Given the description of an element on the screen output the (x, y) to click on. 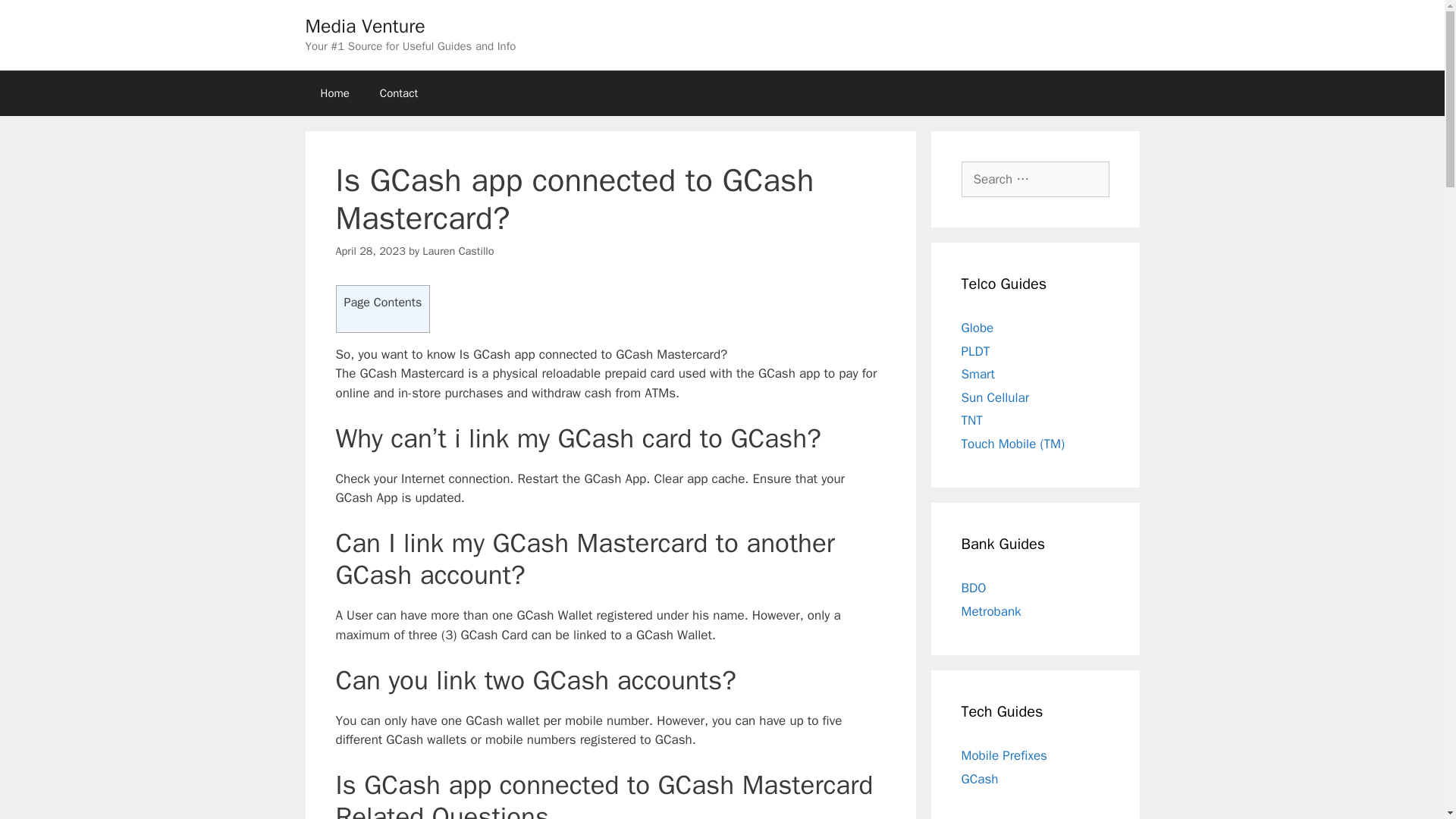
Sun Cellular (994, 397)
BDO (973, 587)
Contact (398, 92)
TNT (971, 420)
View all posts by Lauren Castillo (457, 250)
Lauren Castillo (457, 250)
GCash (979, 778)
Home (334, 92)
Globe (977, 327)
PLDT (975, 350)
Search (35, 18)
Search for: (1034, 178)
Metrobank (991, 611)
Media Venture (364, 25)
Smart (977, 374)
